Given the description of an element on the screen output the (x, y) to click on. 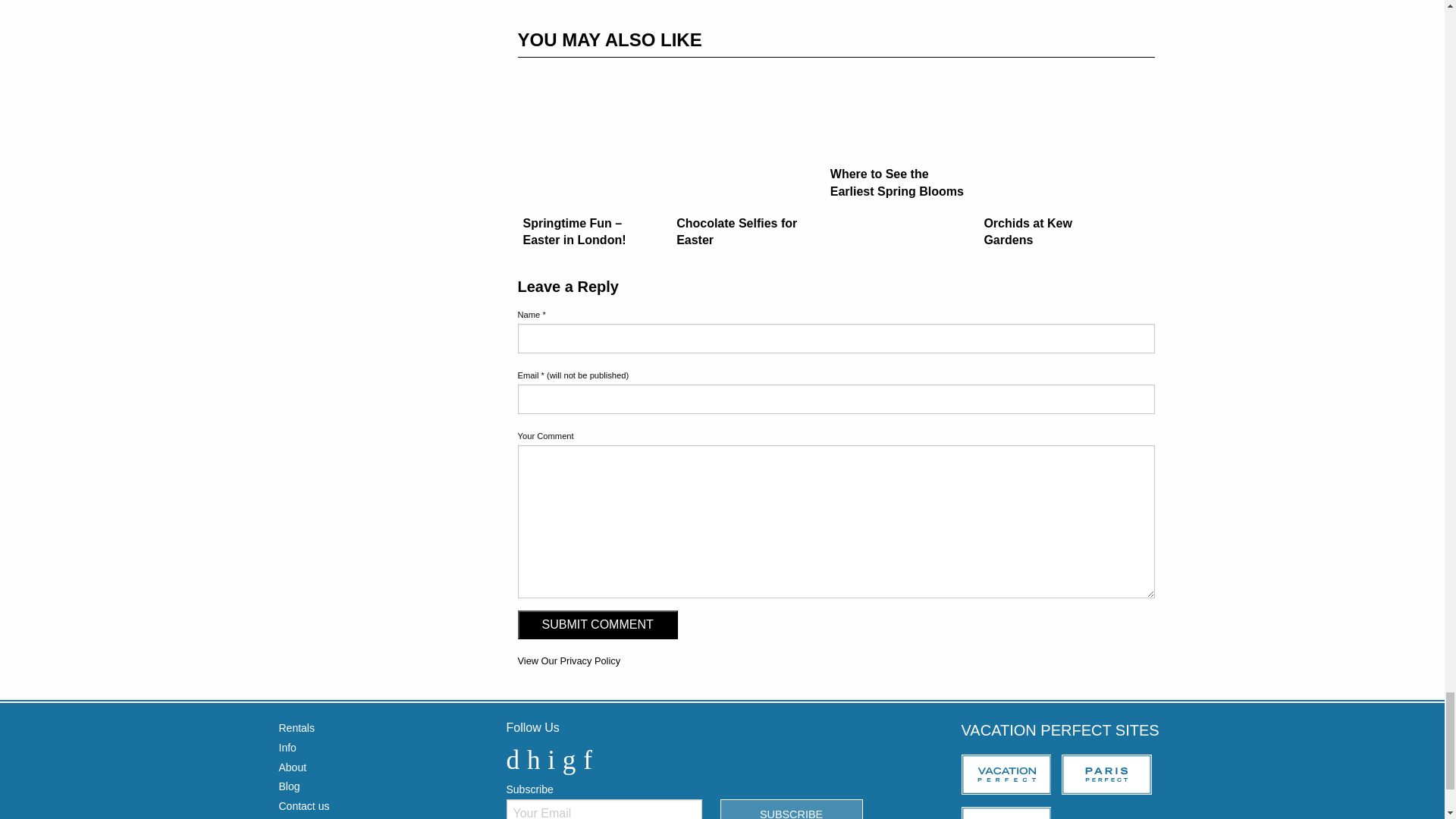
Where to See the Earliest Spring Blooms in London (898, 136)
Subscribe (791, 809)
Submit Comment (596, 624)
